Given the description of an element on the screen output the (x, y) to click on. 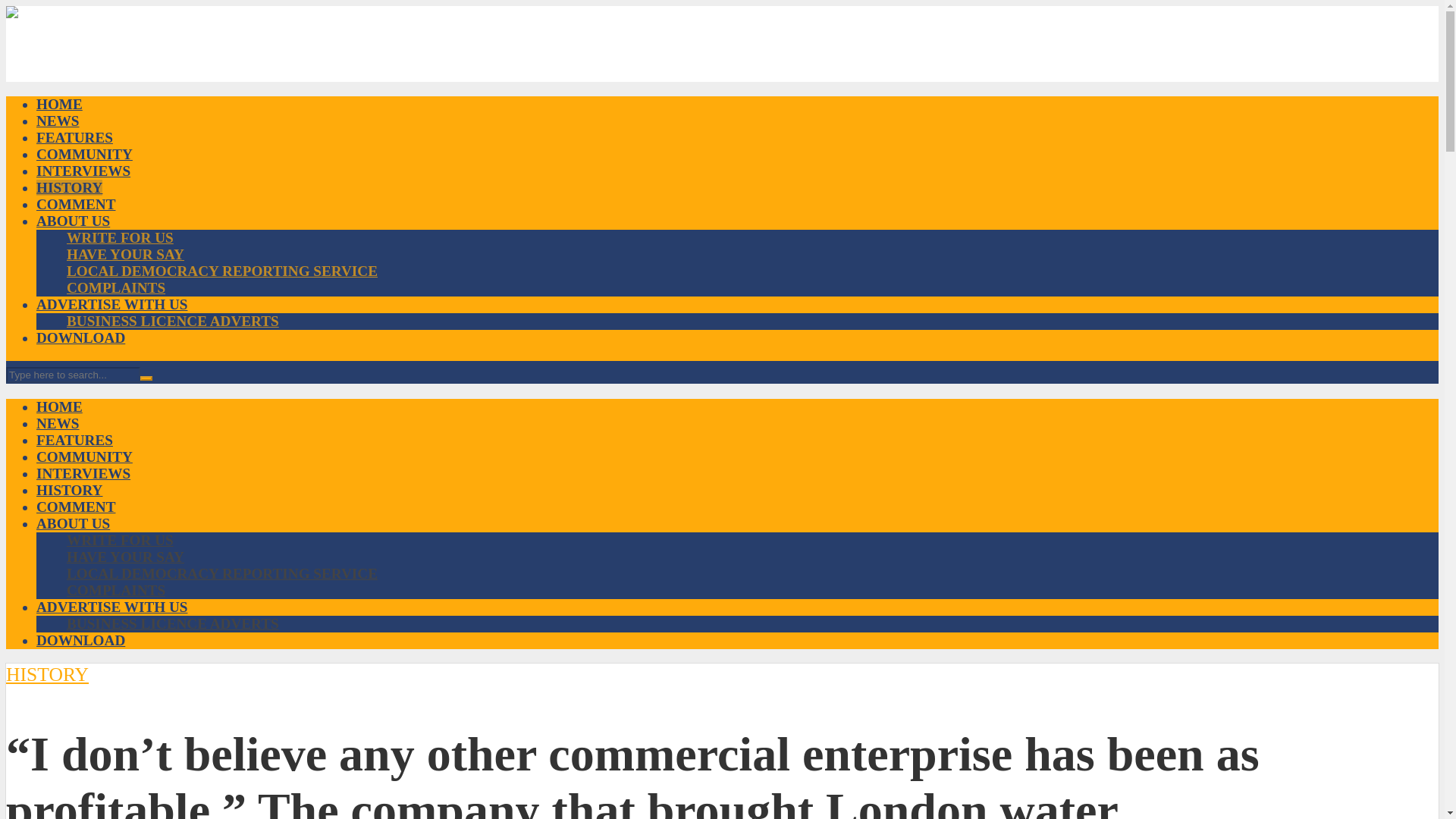
HISTORY (68, 489)
COMMENT (75, 506)
HAVE YOUR SAY (125, 556)
HOME (59, 406)
WRITE FOR US (119, 237)
ABOUT US (73, 220)
INTERVIEWS (83, 170)
COMPLAINTS (115, 590)
HISTORY (68, 187)
COMMUNITY (84, 154)
